Given the description of an element on the screen output the (x, y) to click on. 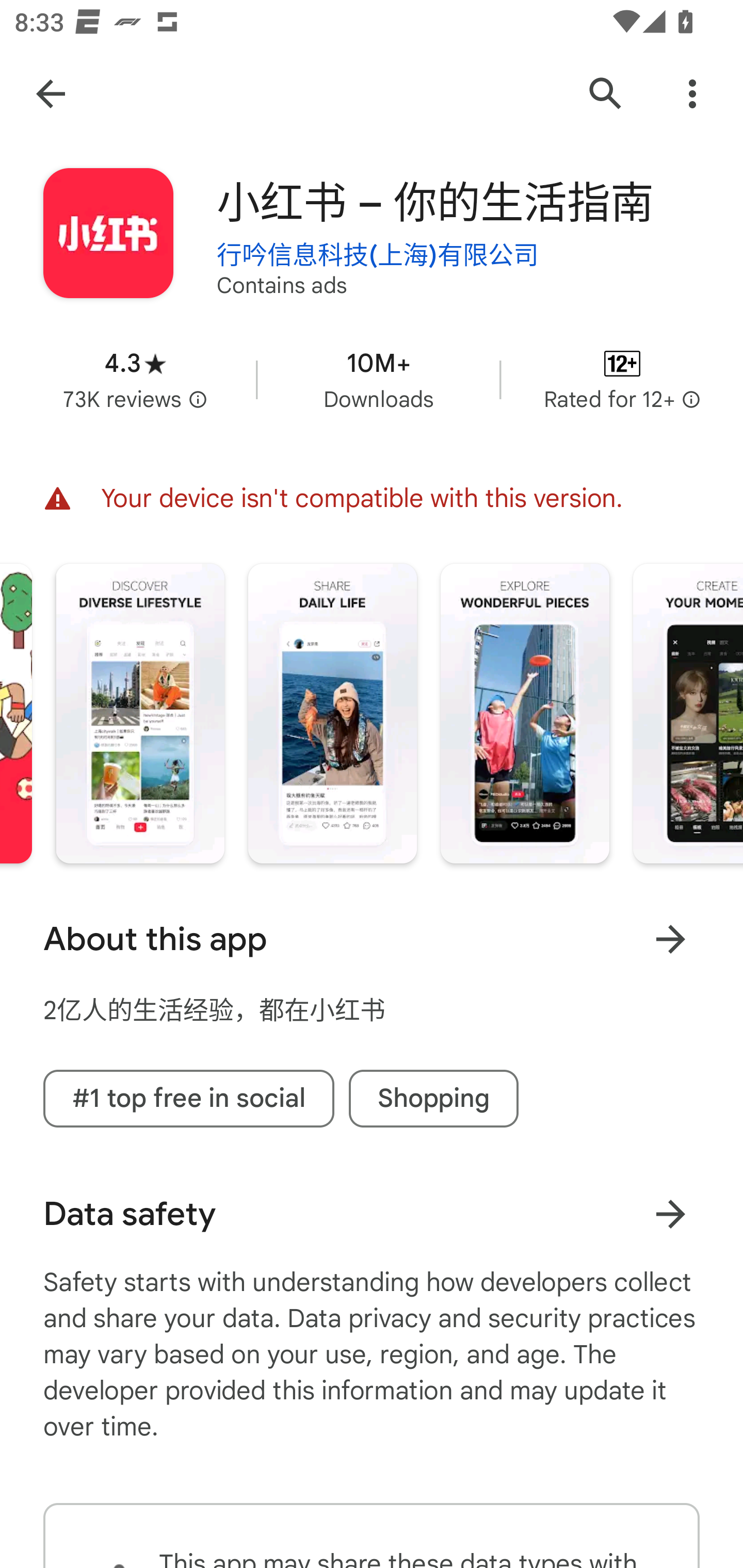
Navigate up (50, 93)
Search Google Play (605, 93)
More Options (692, 93)
行吟信息科技(上海)有限公司 (377, 253)
Average rating 4.3 stars in 73 thousand reviews (135, 379)
Content rating Rated for 12+ (622, 379)
Screenshot "1" of "5" (139, 713)
Screenshot "2" of "5" (332, 713)
Screenshot "3" of "5" (524, 713)
Screenshot "4" of "5" (688, 713)
About this app Learn more About this app (371, 939)
Learn more About this app (670, 939)
#1 top free in social tag (188, 1098)
Shopping tag (433, 1098)
Data safety Learn more about data safety (371, 1214)
Learn more about data safety (670, 1214)
